Given the description of an element on the screen output the (x, y) to click on. 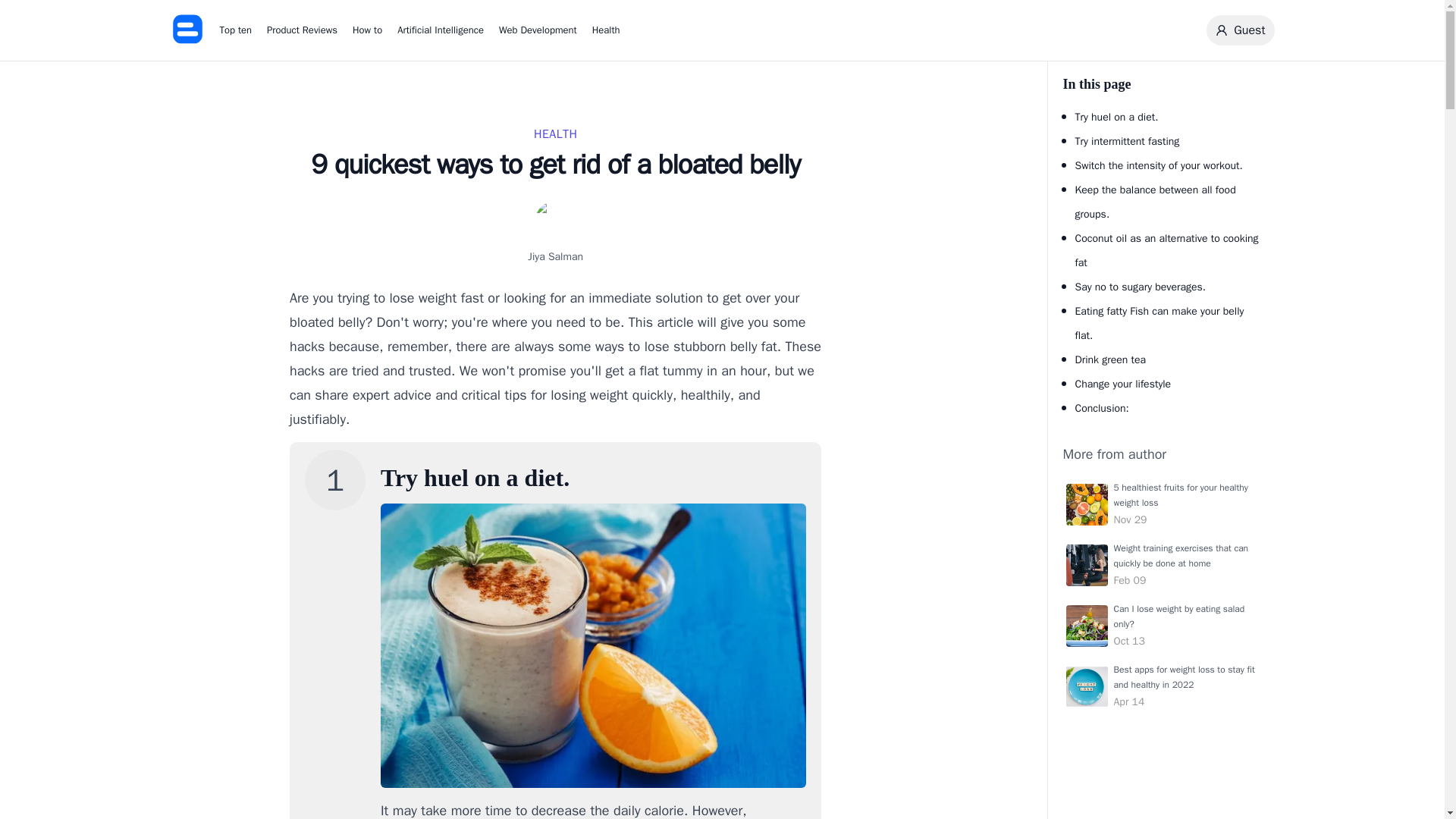
Change your lifestyle (1123, 383)
Try huel on a diet. (1116, 116)
Product Reviews (1160, 625)
Say no to sugary beverages. (301, 29)
Top ten (1141, 286)
How to (235, 29)
 Weight training exercises that can quickly be done at home (366, 29)
Conclusion: (1076, 554)
